Given the description of an element on the screen output the (x, y) to click on. 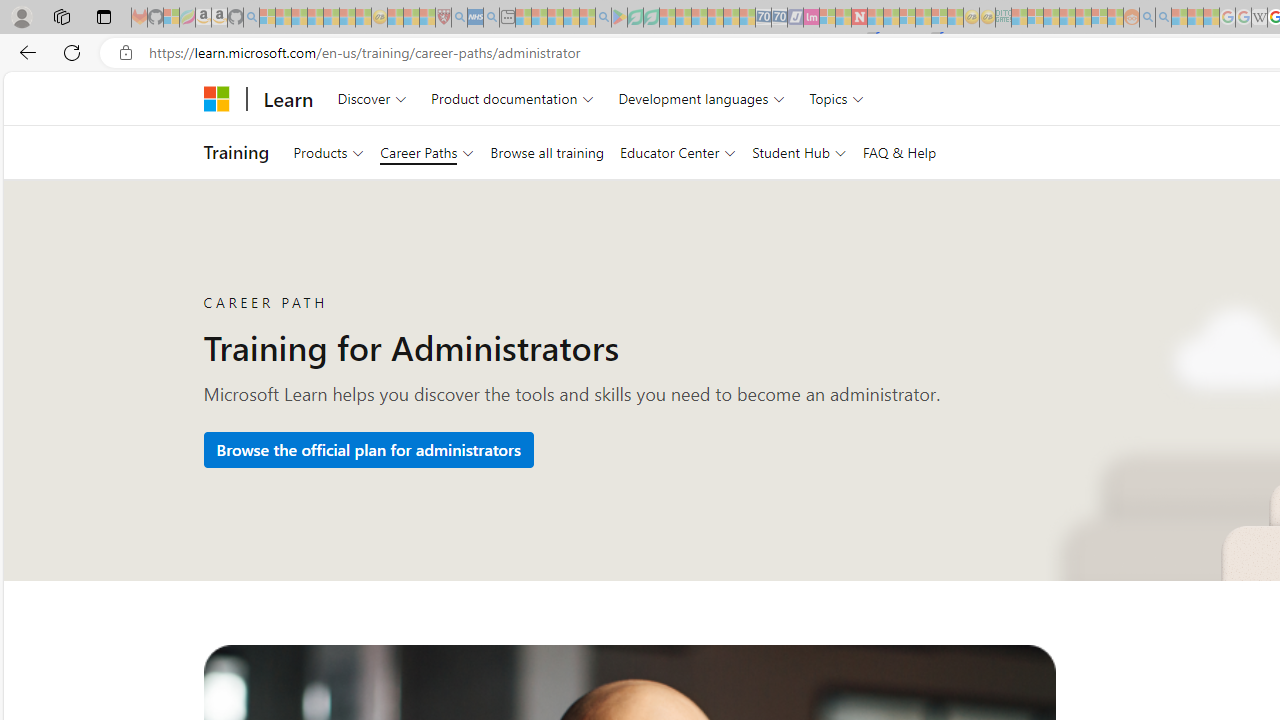
Development languages (701, 98)
Training (236, 152)
Product documentation (512, 98)
Browse all training (546, 152)
Development languages (701, 98)
Browse the official plan for administrators (368, 449)
